Given the description of an element on the screen output the (x, y) to click on. 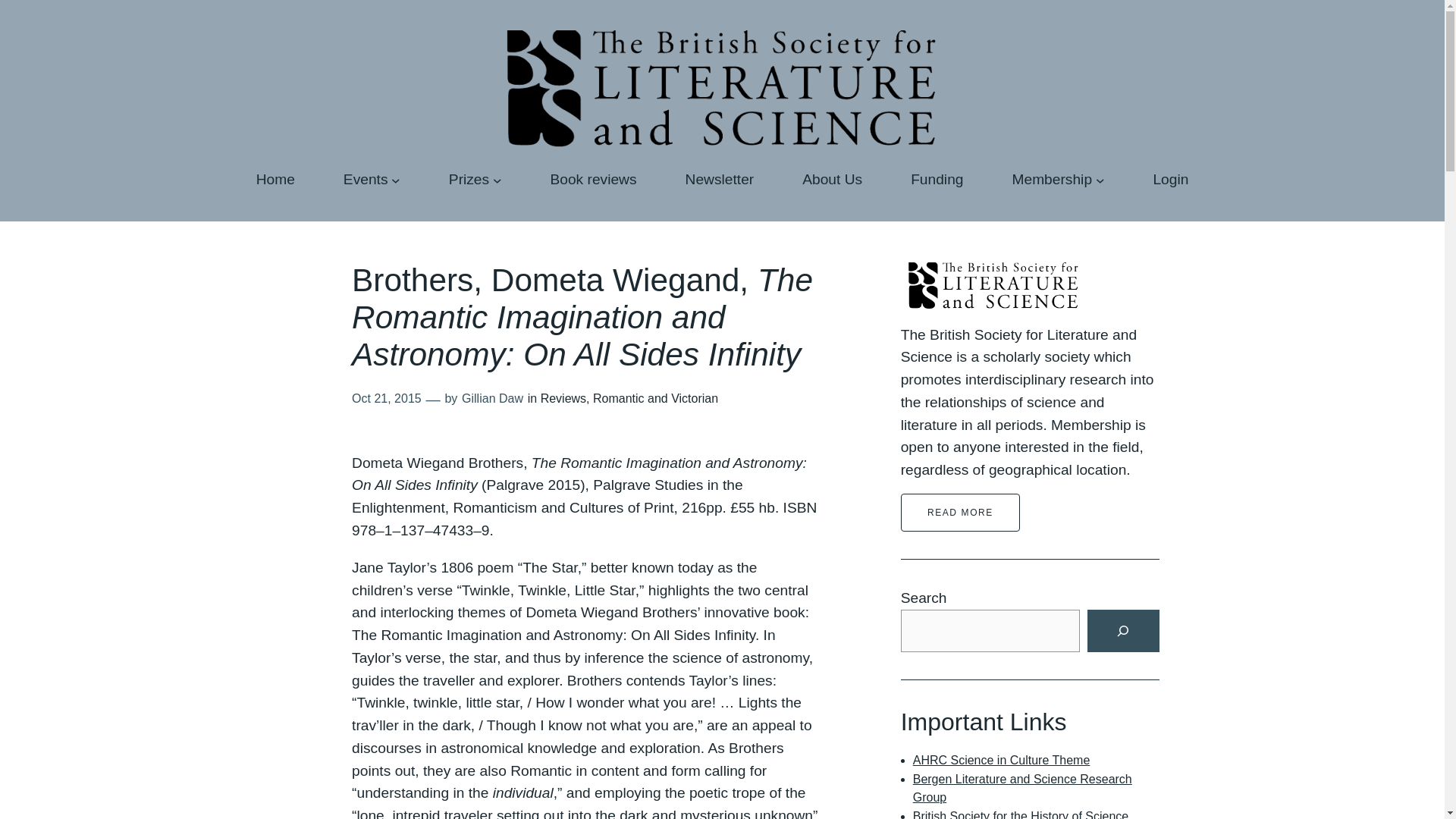
Book reviews (593, 179)
Bergen Literature and Science Research Group (1022, 788)
Login (1170, 179)
Oct 21, 2015 (387, 398)
BSLS Newsletters (719, 179)
Newsletter (719, 179)
Funding (936, 179)
AHRC Science in Culture Theme (1001, 759)
Prizes (468, 179)
READ MORE (960, 512)
